Given the description of an element on the screen output the (x, y) to click on. 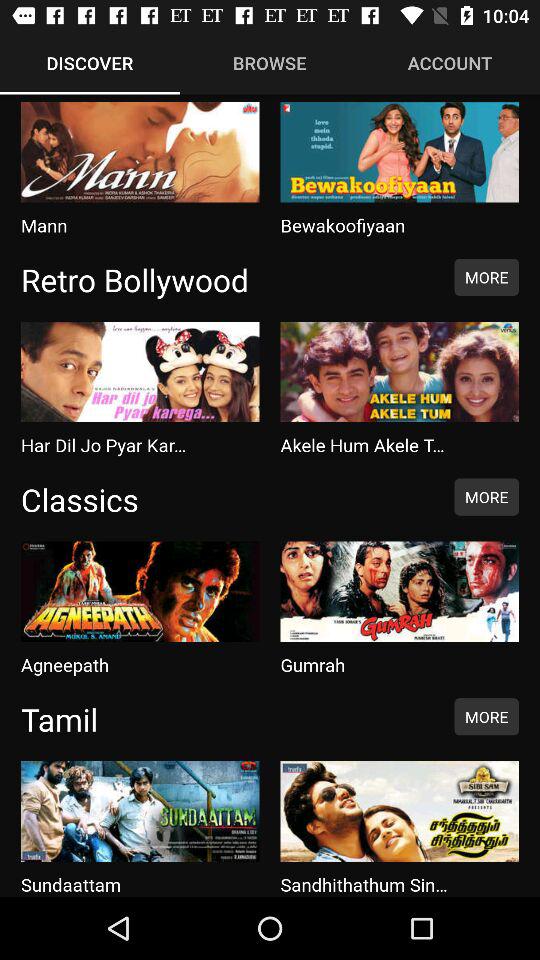
turn on item to the left of the more icon (227, 719)
